Given the description of an element on the screen output the (x, y) to click on. 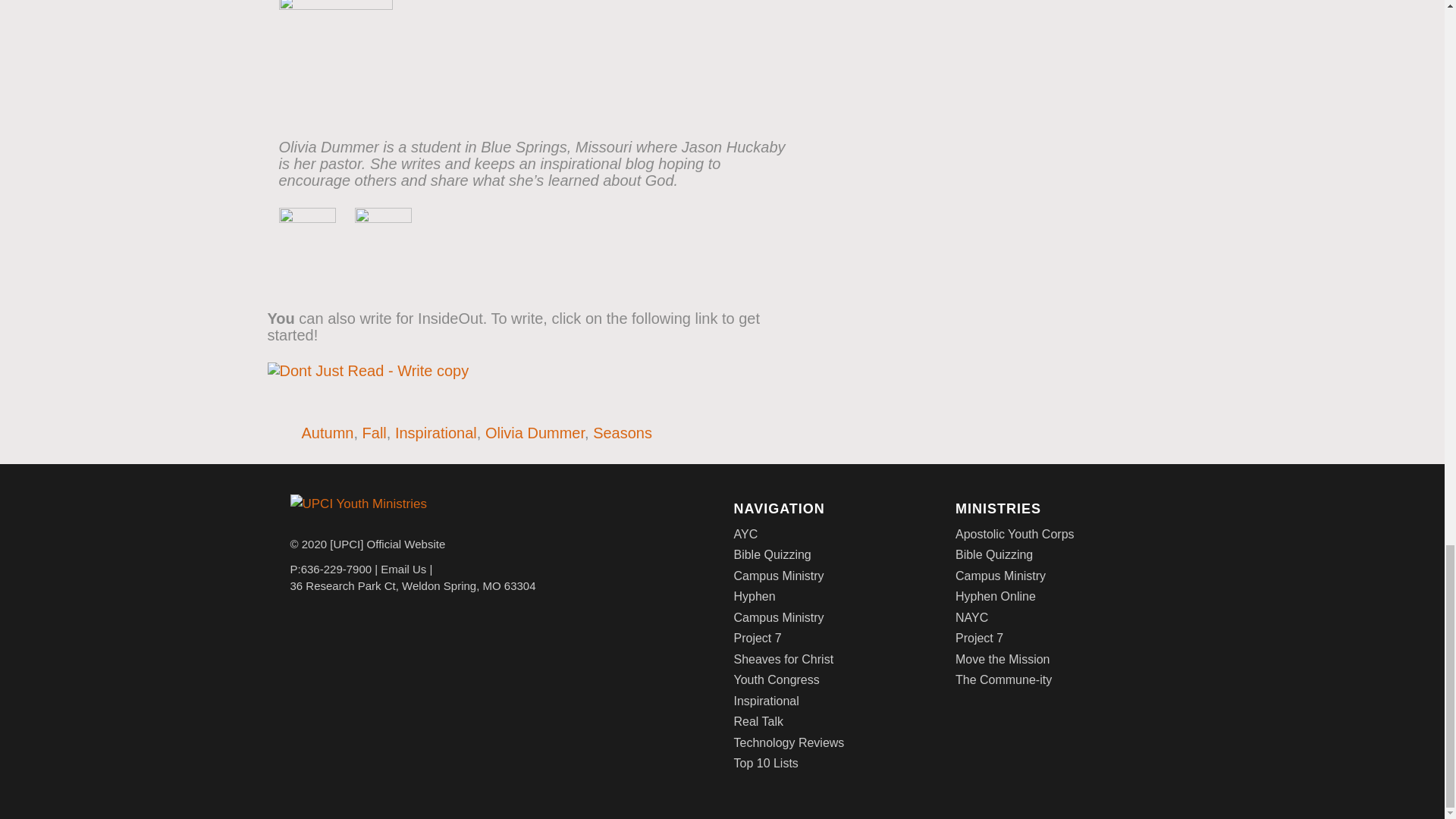
twitter-black-75 (383, 236)
Dummer, Olivia (336, 54)
facebook-black-75 (307, 236)
